Given the description of an element on the screen output the (x, y) to click on. 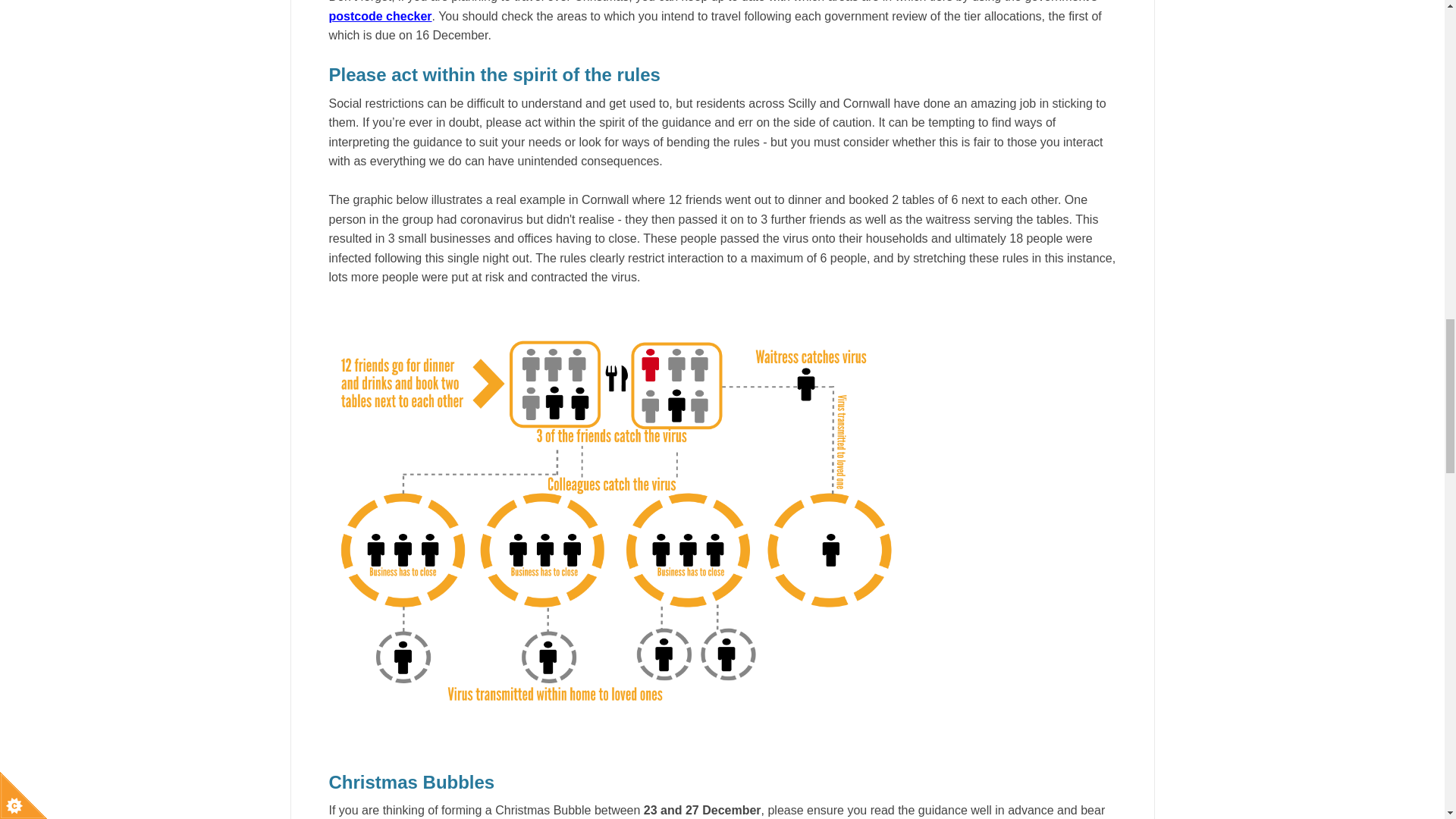
postcode checker (380, 15)
